Given the description of an element on the screen output the (x, y) to click on. 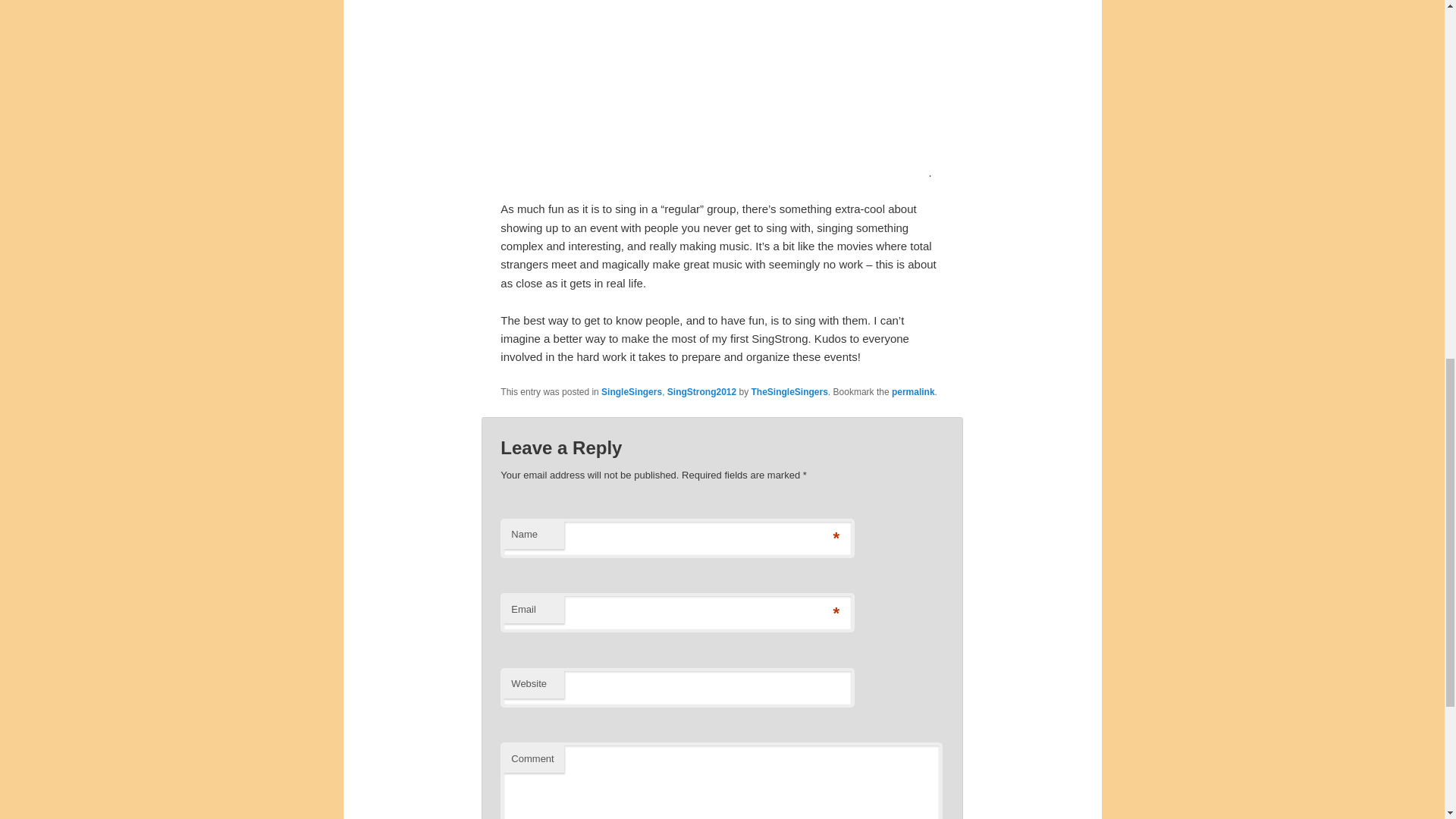
SingStrong2012 (701, 391)
View all posts in SingStrong2012 (701, 391)
permalink (912, 391)
SingleSingers (631, 391)
Permalink to Arrive and sing at my first SingStrong (912, 391)
TheSingleSingers (789, 391)
View all posts in SingleSingers (631, 391)
